Given the description of an element on the screen output the (x, y) to click on. 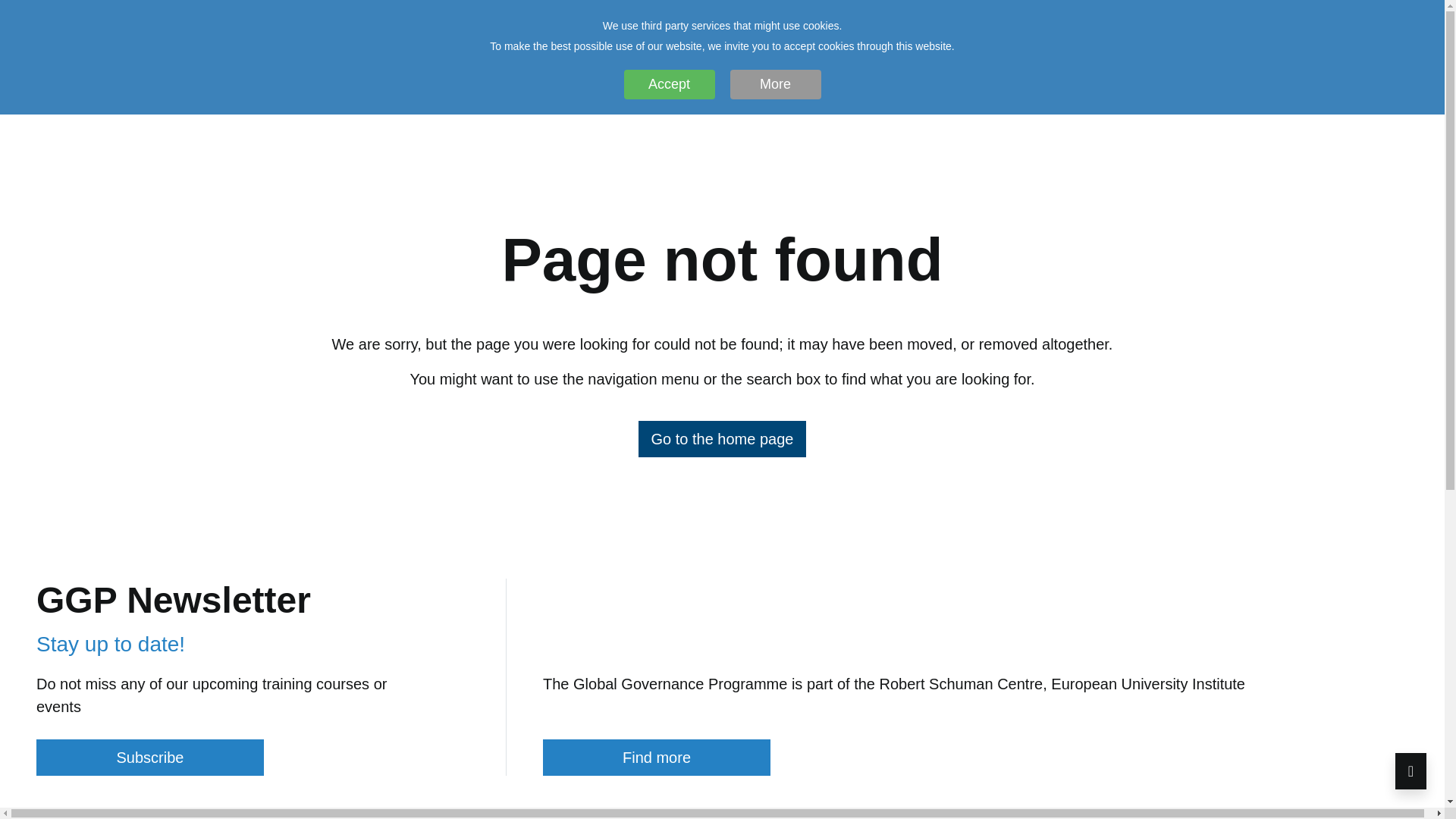
Accept (668, 84)
Subscribe (149, 757)
open or close the menu (1372, 141)
Go to the home page (722, 438)
Find more (656, 757)
More (775, 84)
Go to Global Governance Programme home page (722, 438)
Go to home page (90, 144)
